Given the description of an element on the screen output the (x, y) to click on. 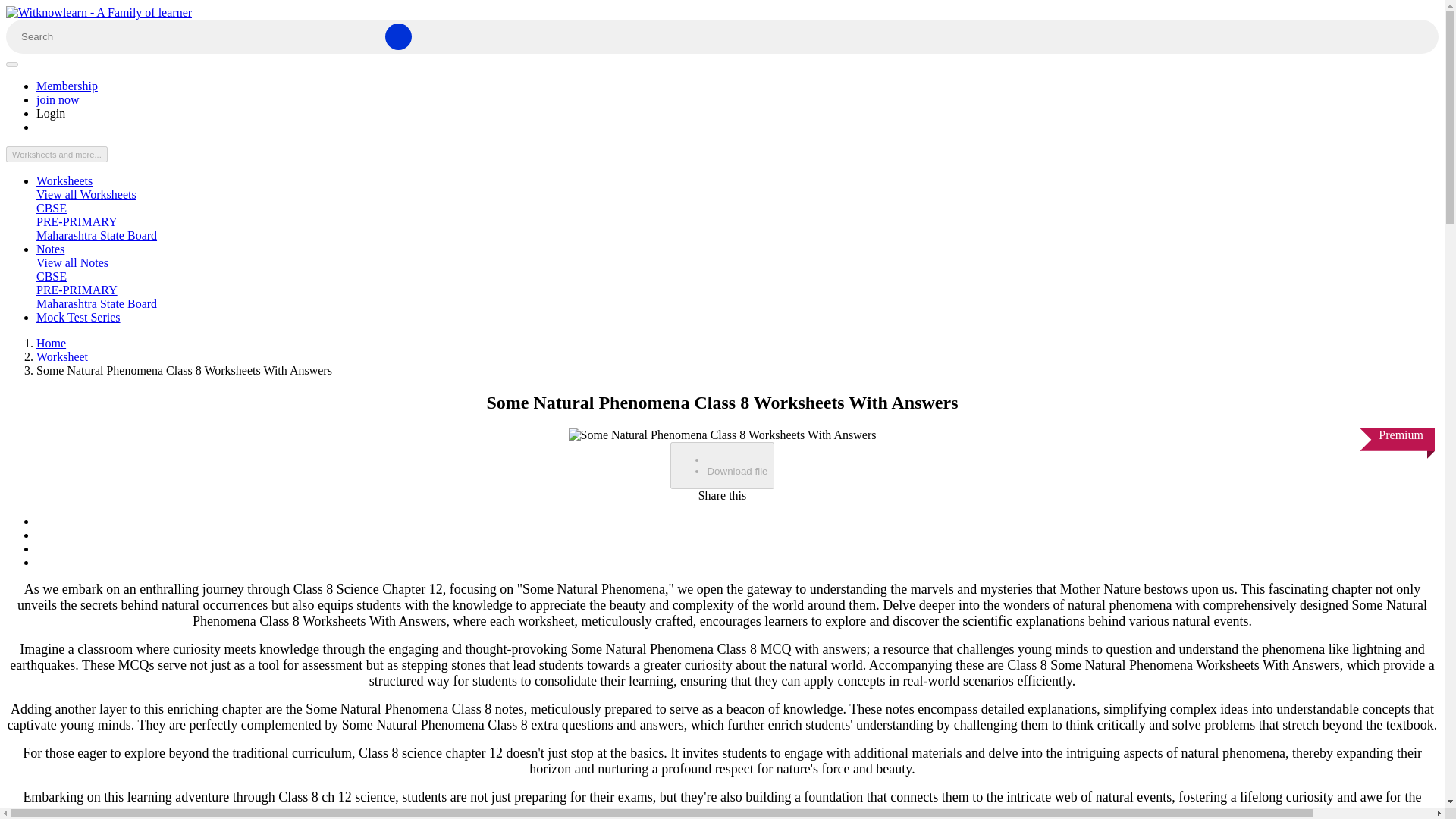
View all Worksheets (86, 194)
Some Natural Phenomena Class 8 Worksheets With Answers (722, 435)
Login (50, 113)
Worksheets (64, 180)
Worksheets and more... (56, 154)
Witknowlearn - A Family of learner (98, 12)
Membership (66, 85)
join now (57, 99)
CBSE (51, 207)
